Given the description of an element on the screen output the (x, y) to click on. 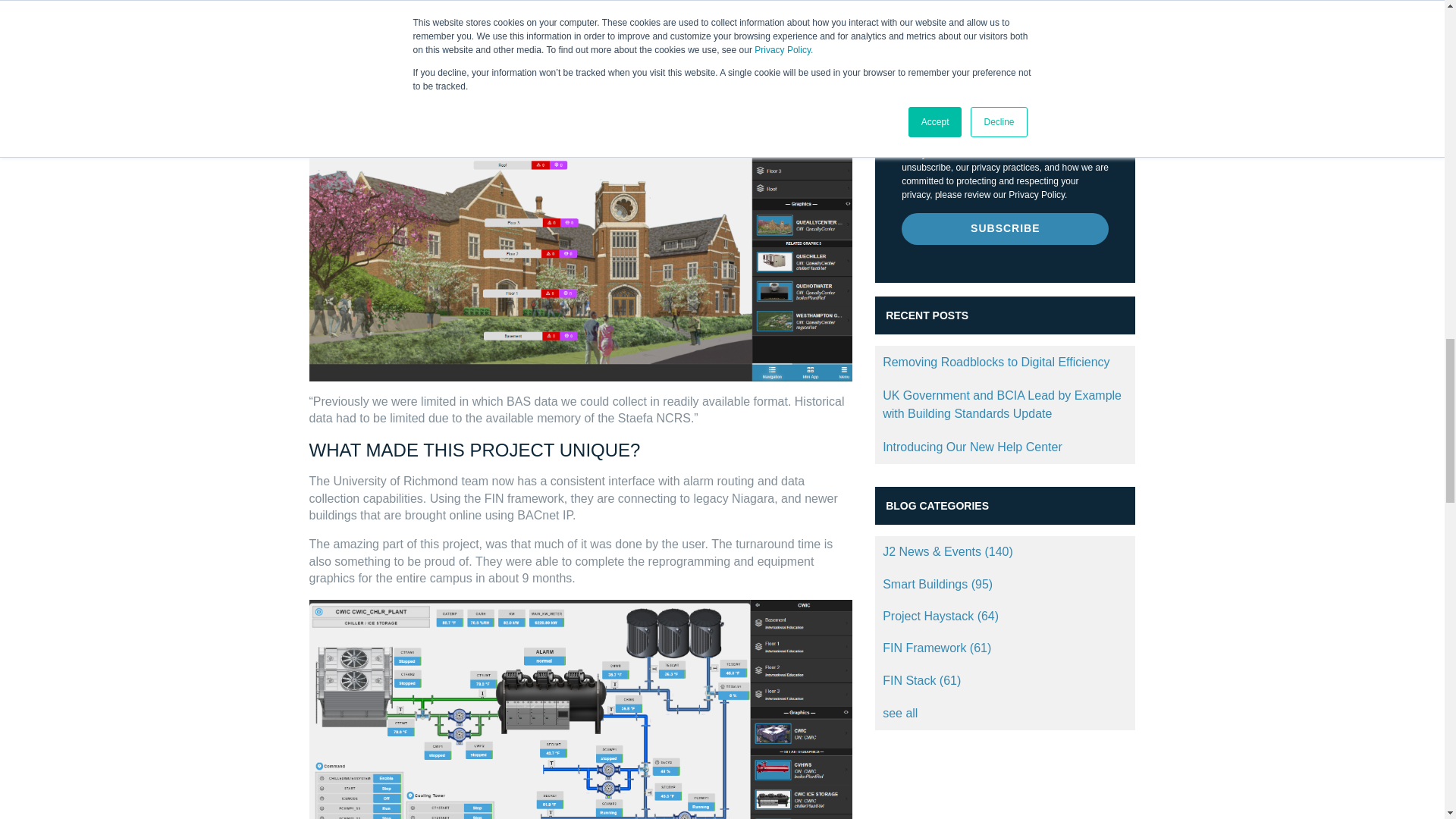
Subscribe (1004, 228)
true (909, 77)
